Given the description of an element on the screen output the (x, y) to click on. 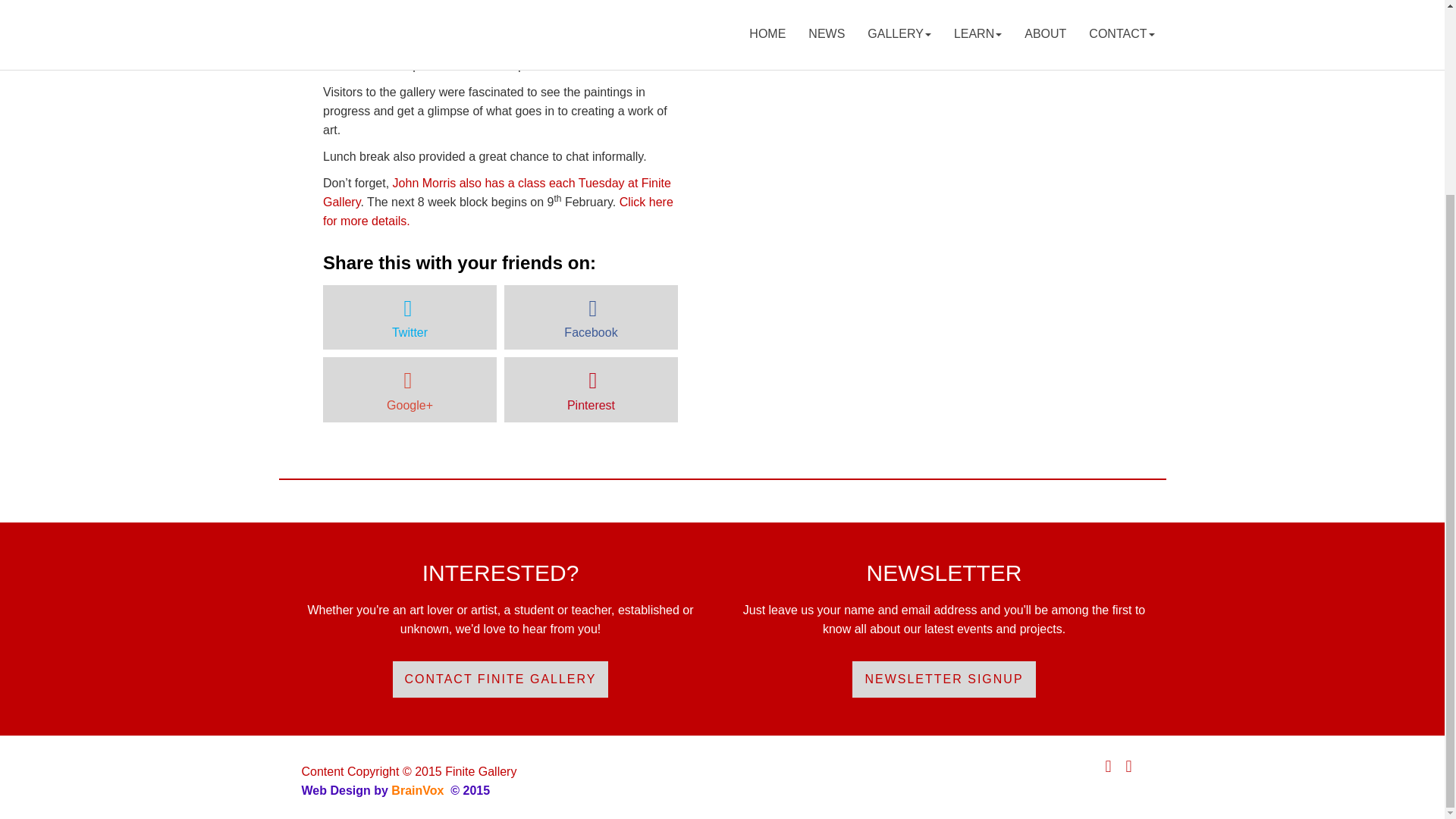
workshop (577, 46)
CONTACT FINITE GALLERY (500, 678)
John Morris also has a class each Tuesday at Finite Gallery (497, 192)
John Morris (550, 3)
Click here for more details. (497, 211)
two day painting workshop (420, 3)
BrainVox, the Wyong Website Designer for your business. (408, 780)
NEWSLETTER SIGNUP (943, 678)
